Given the description of an element on the screen output the (x, y) to click on. 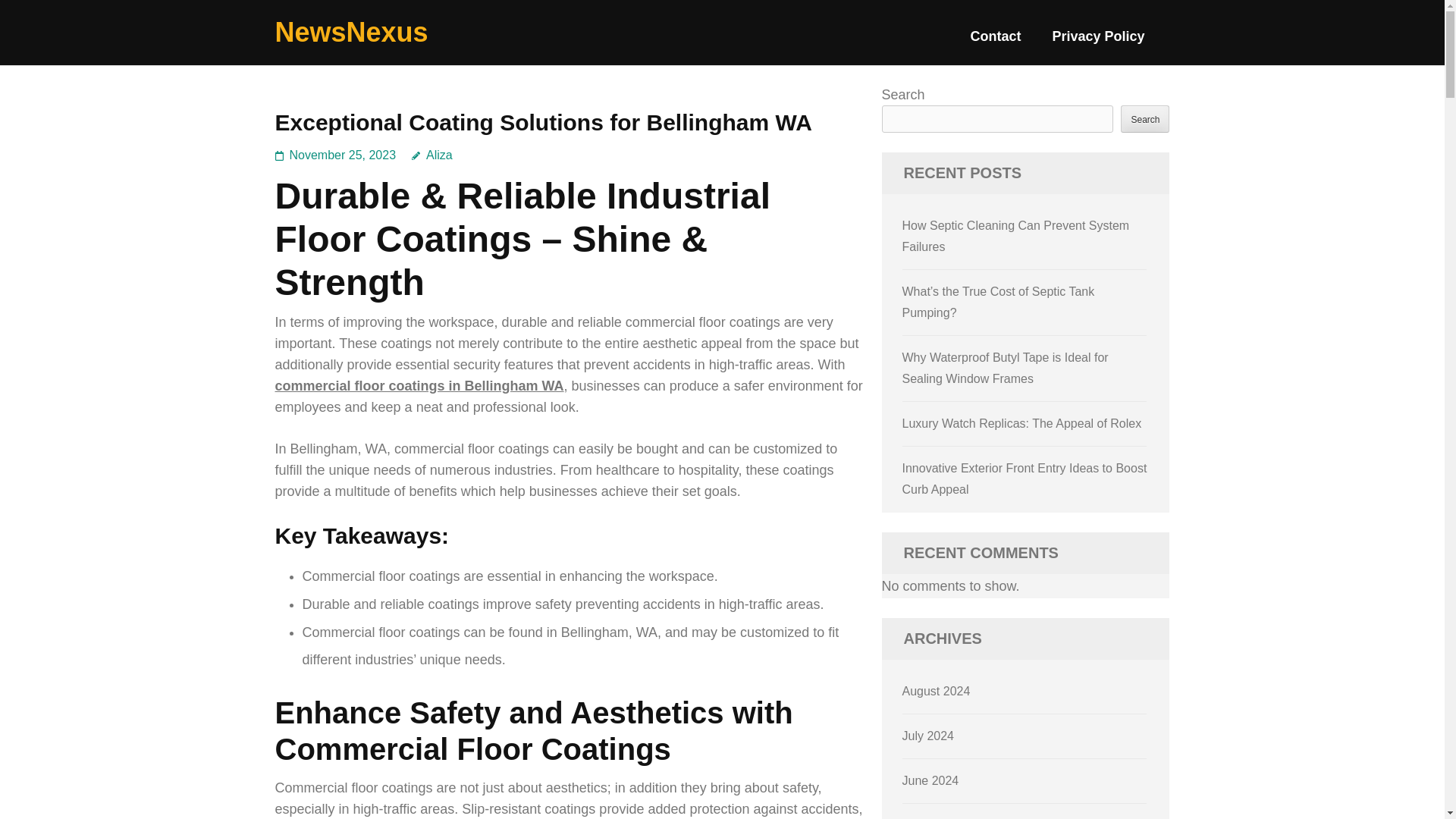
How Septic Cleaning Can Prevent System Failures (1015, 236)
Search (1145, 118)
July 2024 (928, 735)
Luxury Watch Replicas: The Appeal of Rolex (1021, 422)
Privacy Policy (1097, 42)
June 2024 (930, 780)
Contact (994, 42)
August 2024 (936, 690)
Innovative Exterior Front Entry Ideas to Boost Curb Appeal (1024, 478)
NewsNexus (351, 31)
